Given the description of an element on the screen output the (x, y) to click on. 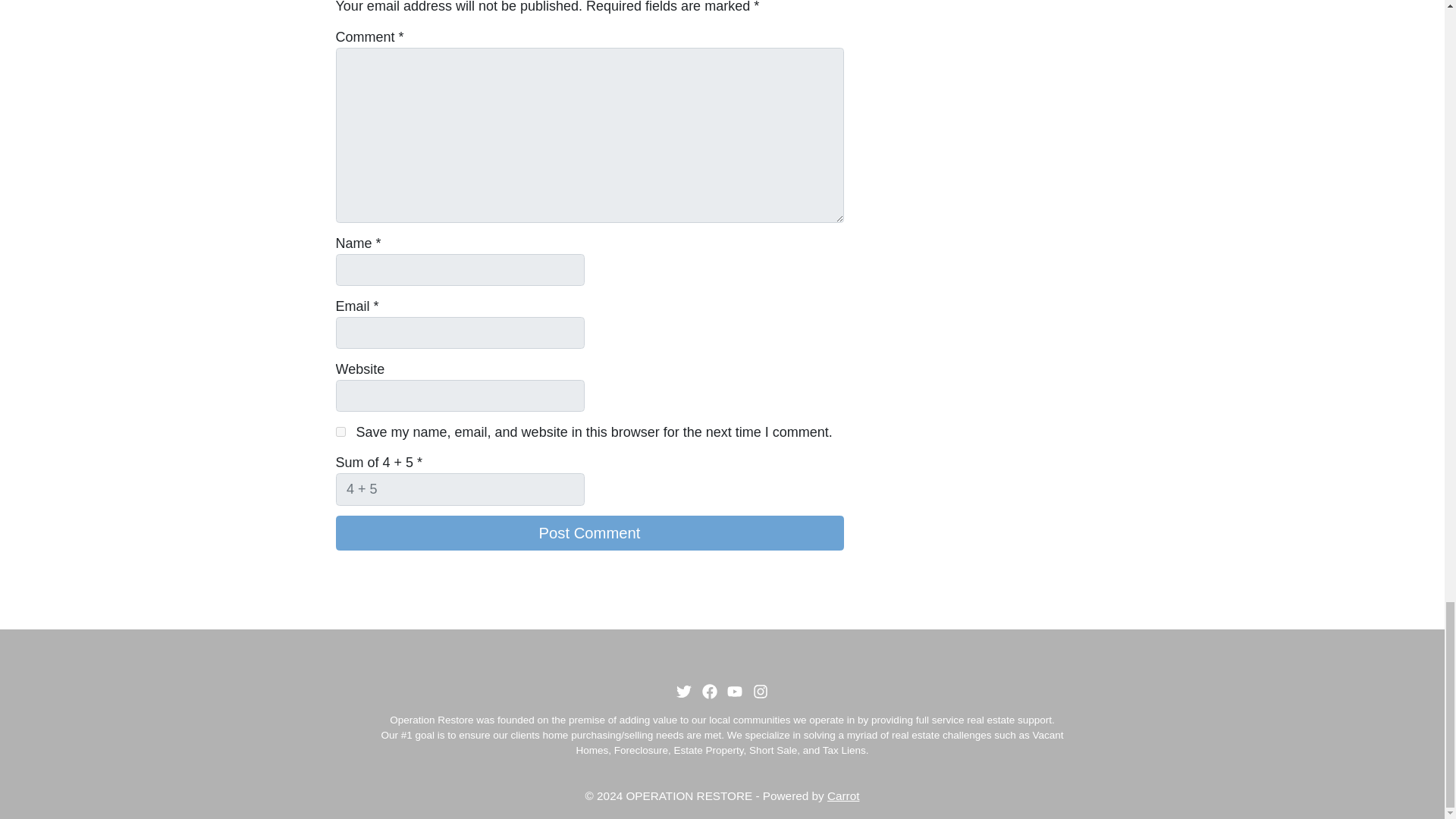
Post Comment (588, 532)
yes (339, 431)
Post Comment (588, 532)
